Given the description of an element on the screen output the (x, y) to click on. 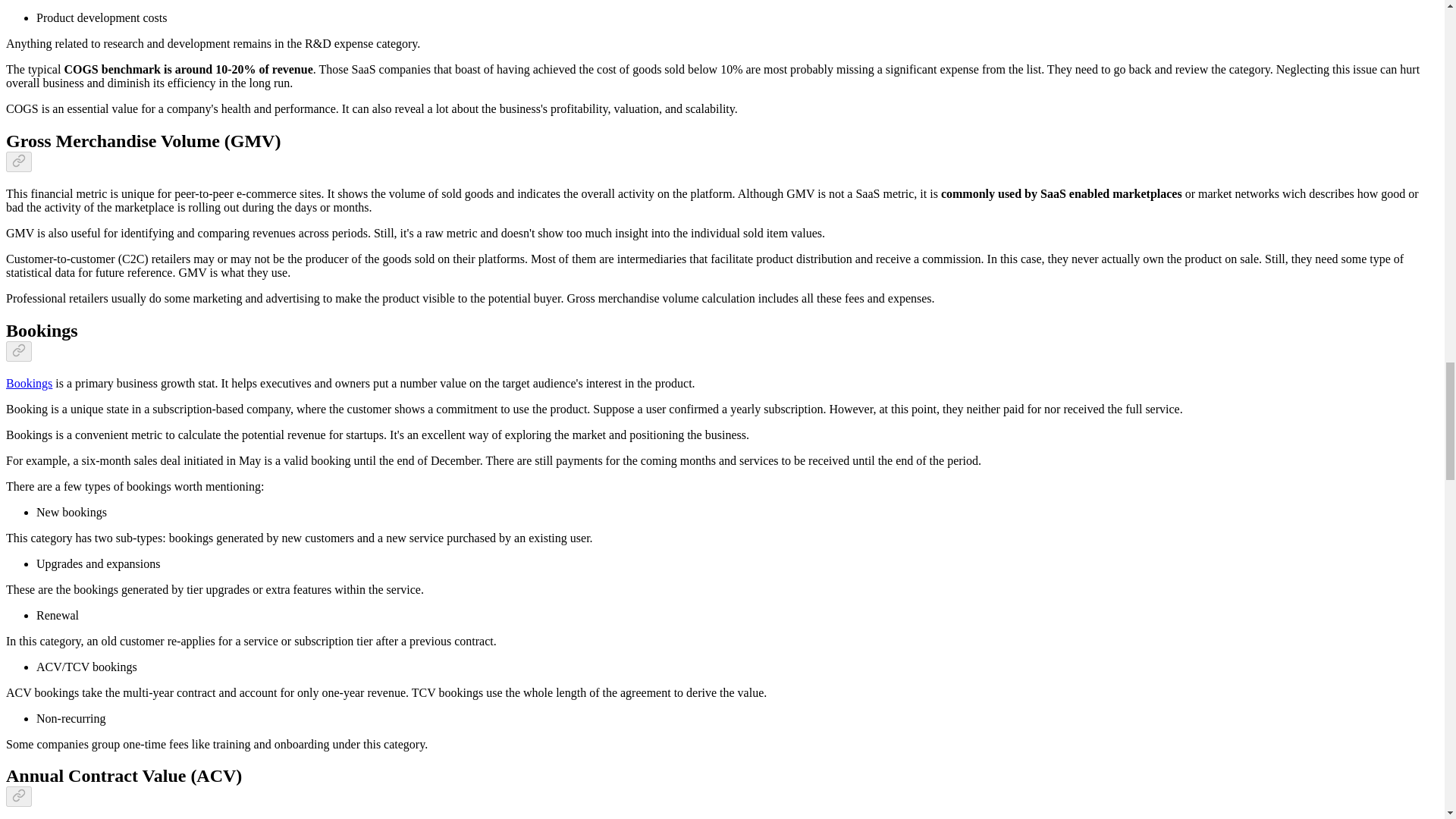
Bookings (28, 382)
